Given the description of an element on the screen output the (x, y) to click on. 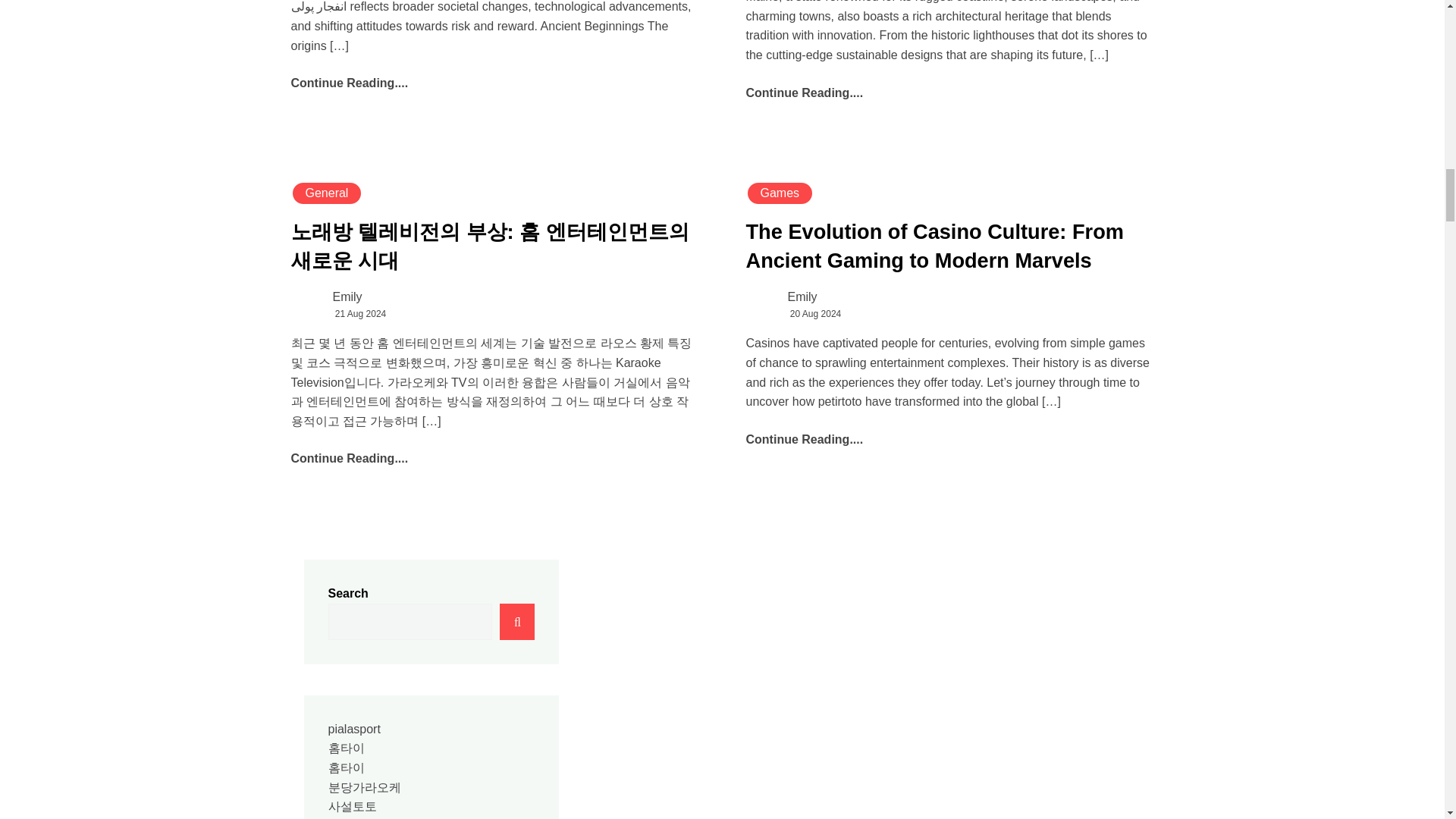
Continue Reading.... (804, 92)
Continue Reading.... (350, 458)
Search (516, 621)
Games (779, 192)
Continue Reading.... (350, 82)
Continue Reading.... (804, 439)
21 Aug 2024 (359, 313)
pialasport (353, 728)
20 Aug 2024 (815, 313)
General (326, 192)
